Given the description of an element on the screen output the (x, y) to click on. 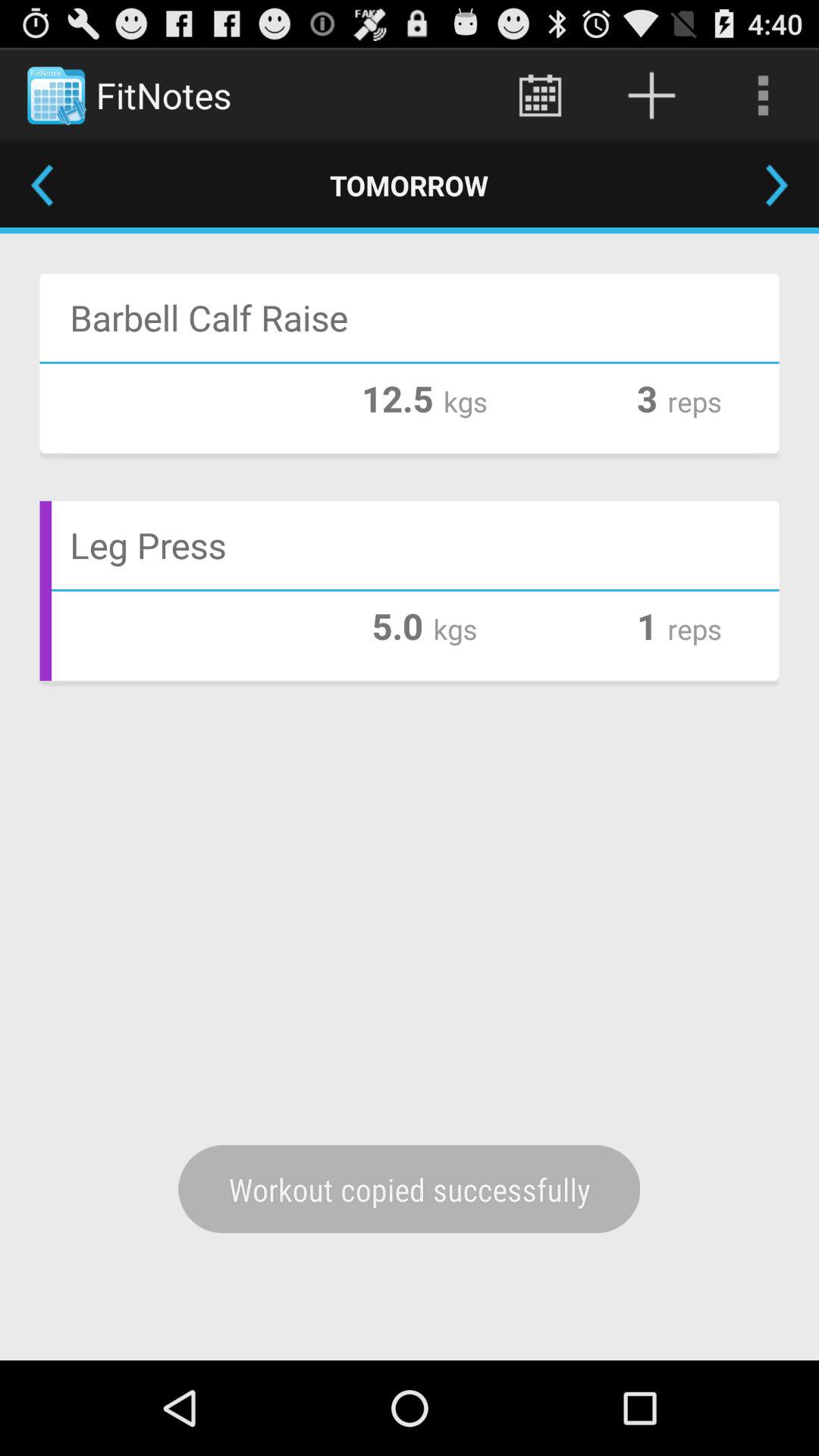
select the image of fitnotes (56, 95)
